Given the description of an element on the screen output the (x, y) to click on. 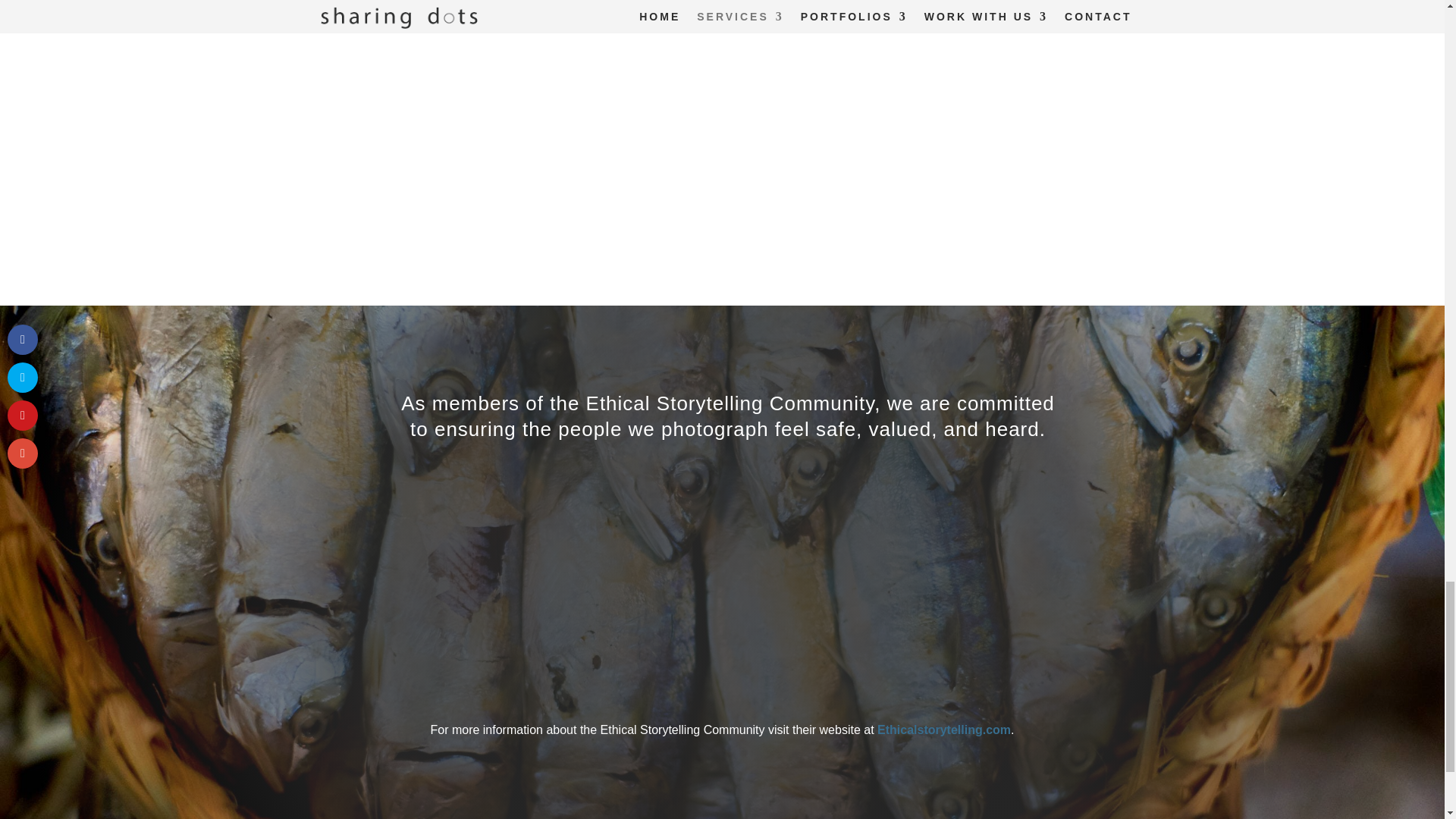
Ethicalstorytelling.com (943, 729)
